Given the description of an element on the screen output the (x, y) to click on. 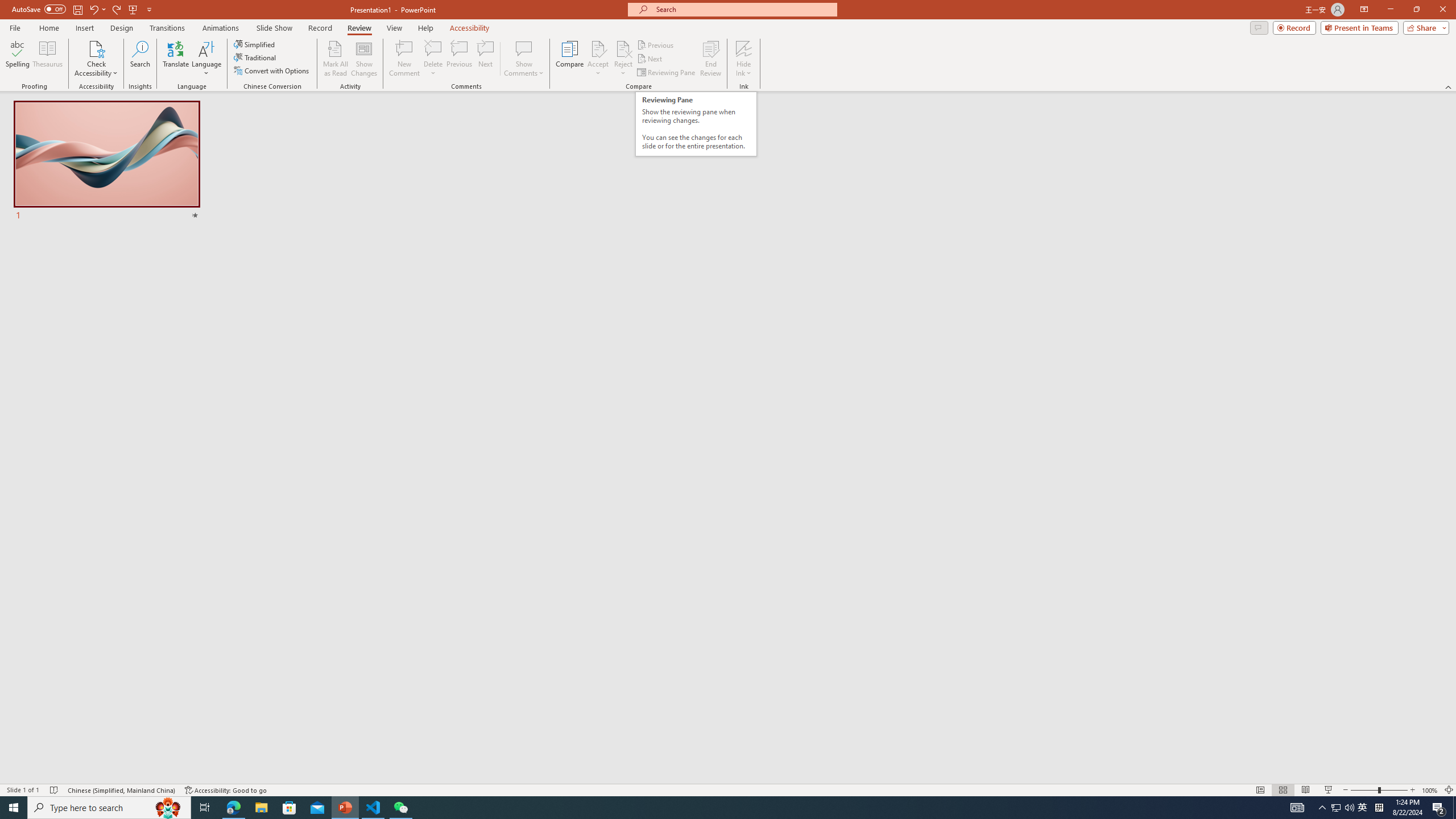
Thesaurus... (47, 58)
